Given the description of an element on the screen output the (x, y) to click on. 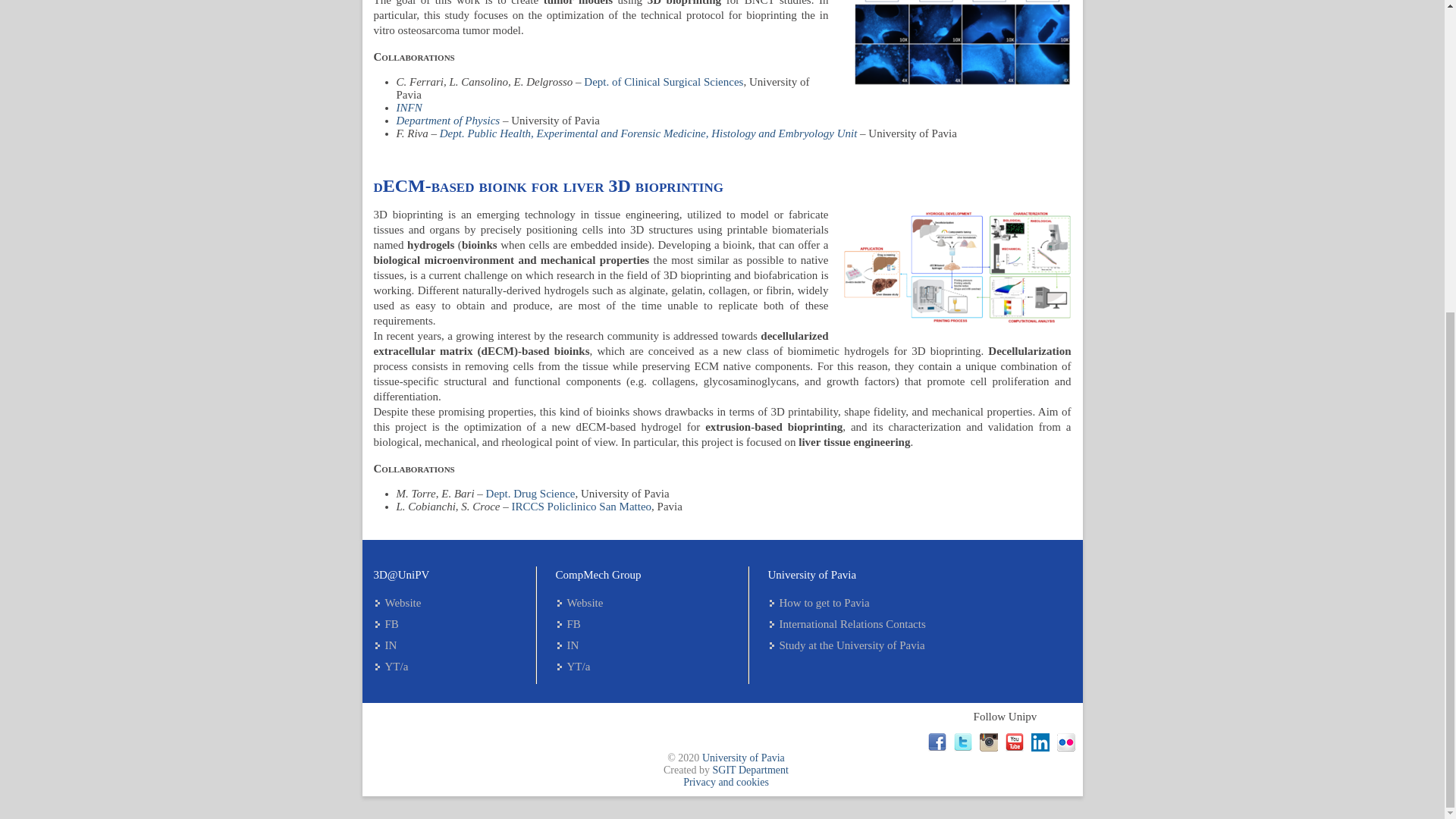
Dept. of Clinical Surgical Sciences (662, 81)
INFN (409, 107)
Department of Physics (447, 120)
